Given the description of an element on the screen output the (x, y) to click on. 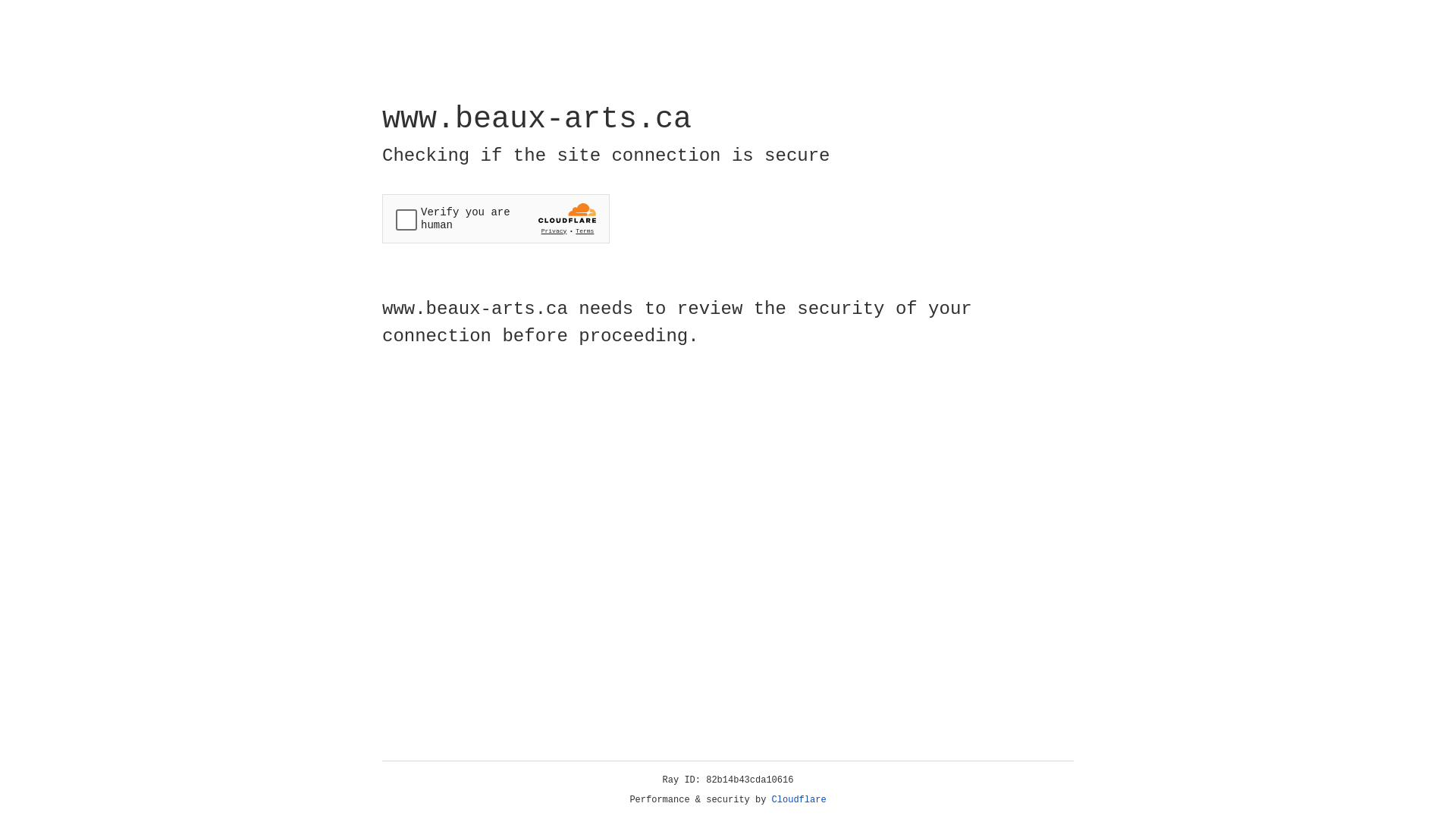
Widget containing a Cloudflare security challenge Element type: hover (495, 218)
Cloudflare Element type: text (798, 799)
